Given the description of an element on the screen output the (x, y) to click on. 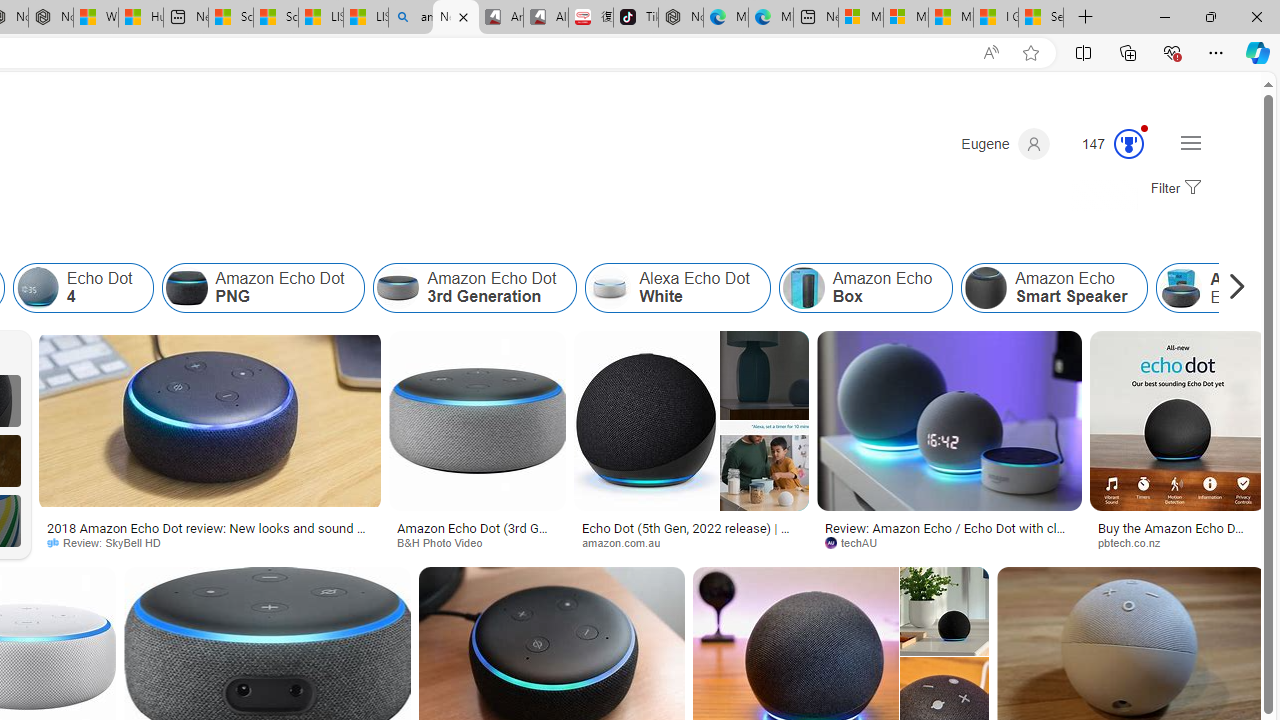
pbtech.co.nz (1136, 541)
Review: SkyBell HD (209, 542)
techAU (858, 541)
Image result for Newest Amazon Echo Dot (944, 611)
